Given the description of an element on the screen output the (x, y) to click on. 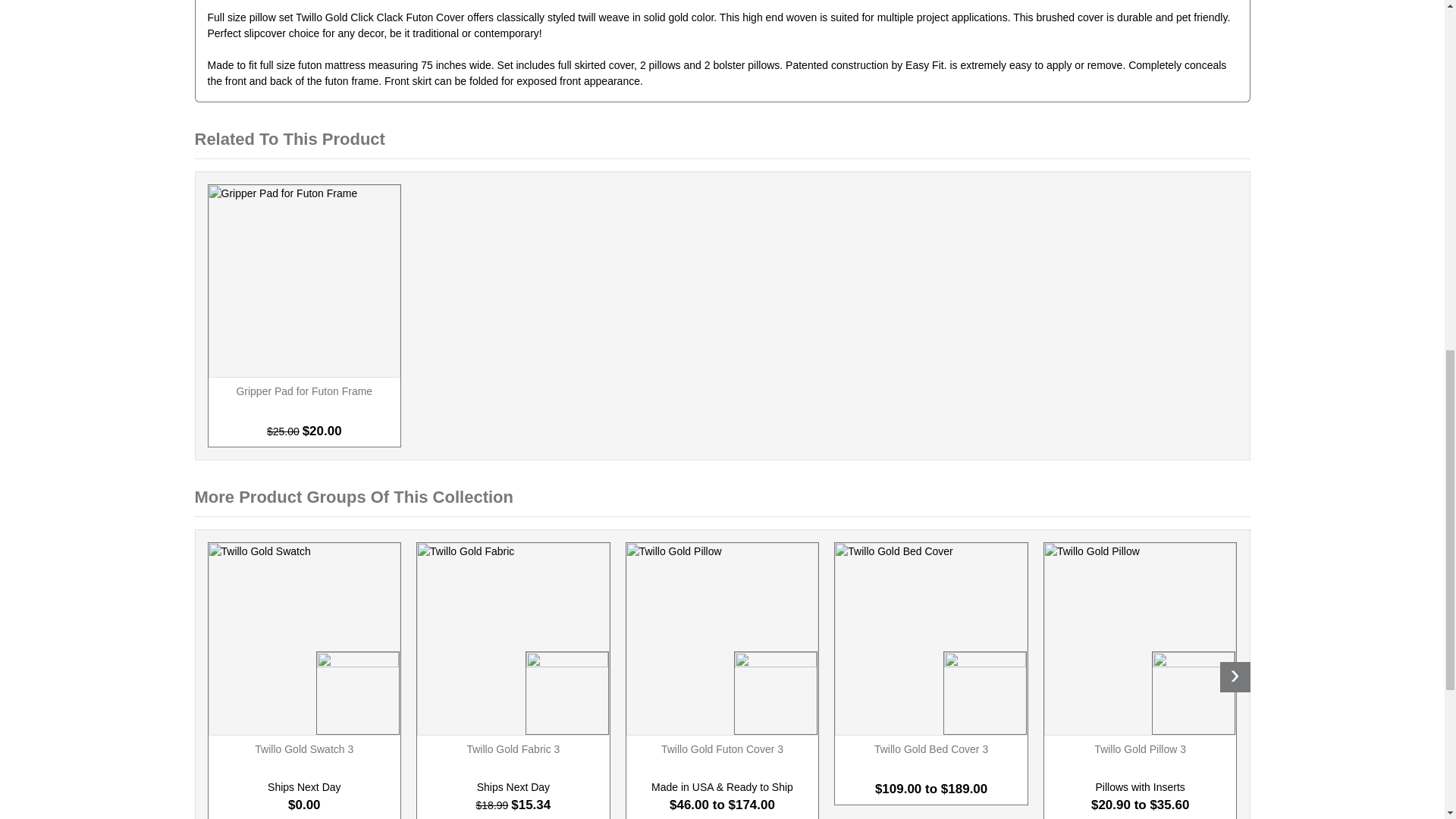
Show details for Twillo Gold Swatch 3 (304, 638)
Show details for Gripper Pad for Futon Frame (304, 280)
Show details for Twillo Gold Futon Cover 3 Full (722, 638)
Show details for Twillo Gold Fabric 3 (512, 638)
